Given the description of an element on the screen output the (x, y) to click on. 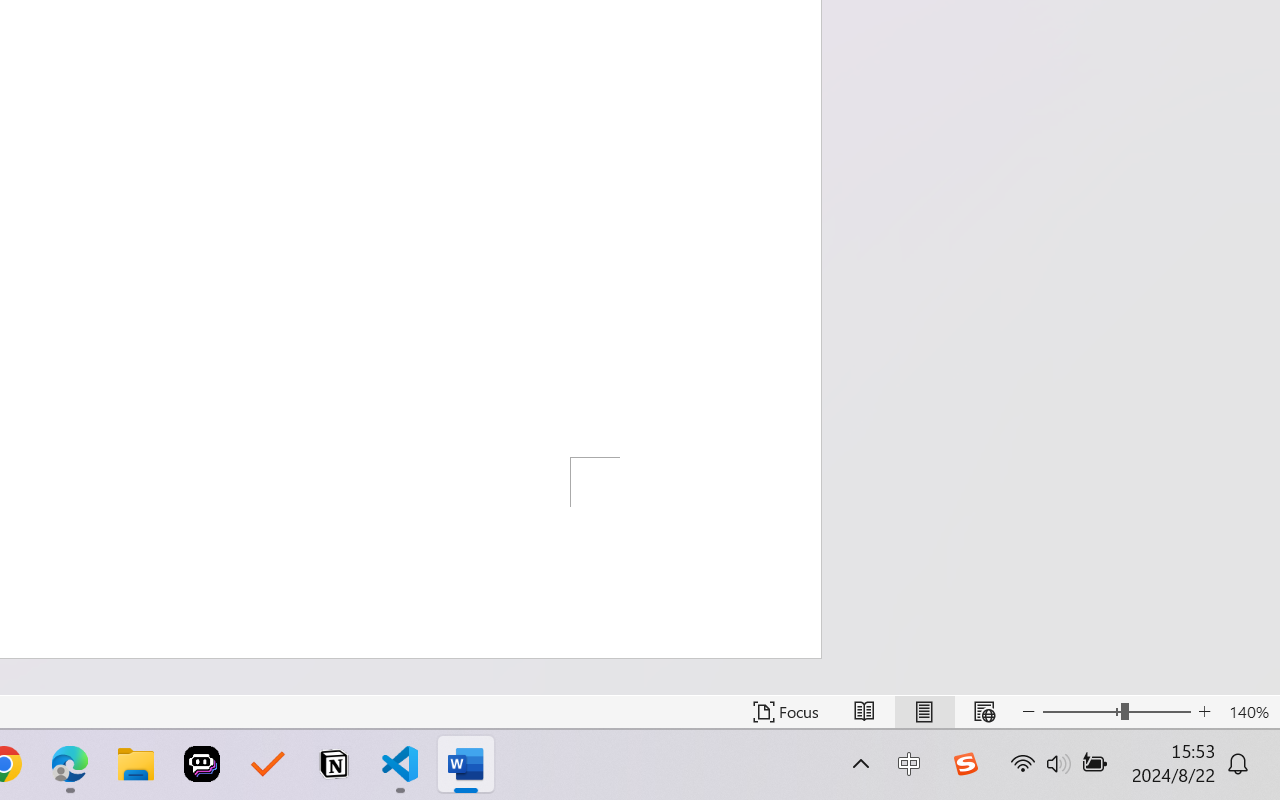
Zoom (1116, 712)
Notion (333, 764)
Read Mode (864, 712)
Web Layout (984, 712)
Class: Image (965, 764)
Focus  (786, 712)
Zoom 140% (1249, 712)
